Given the description of an element on the screen output the (x, y) to click on. 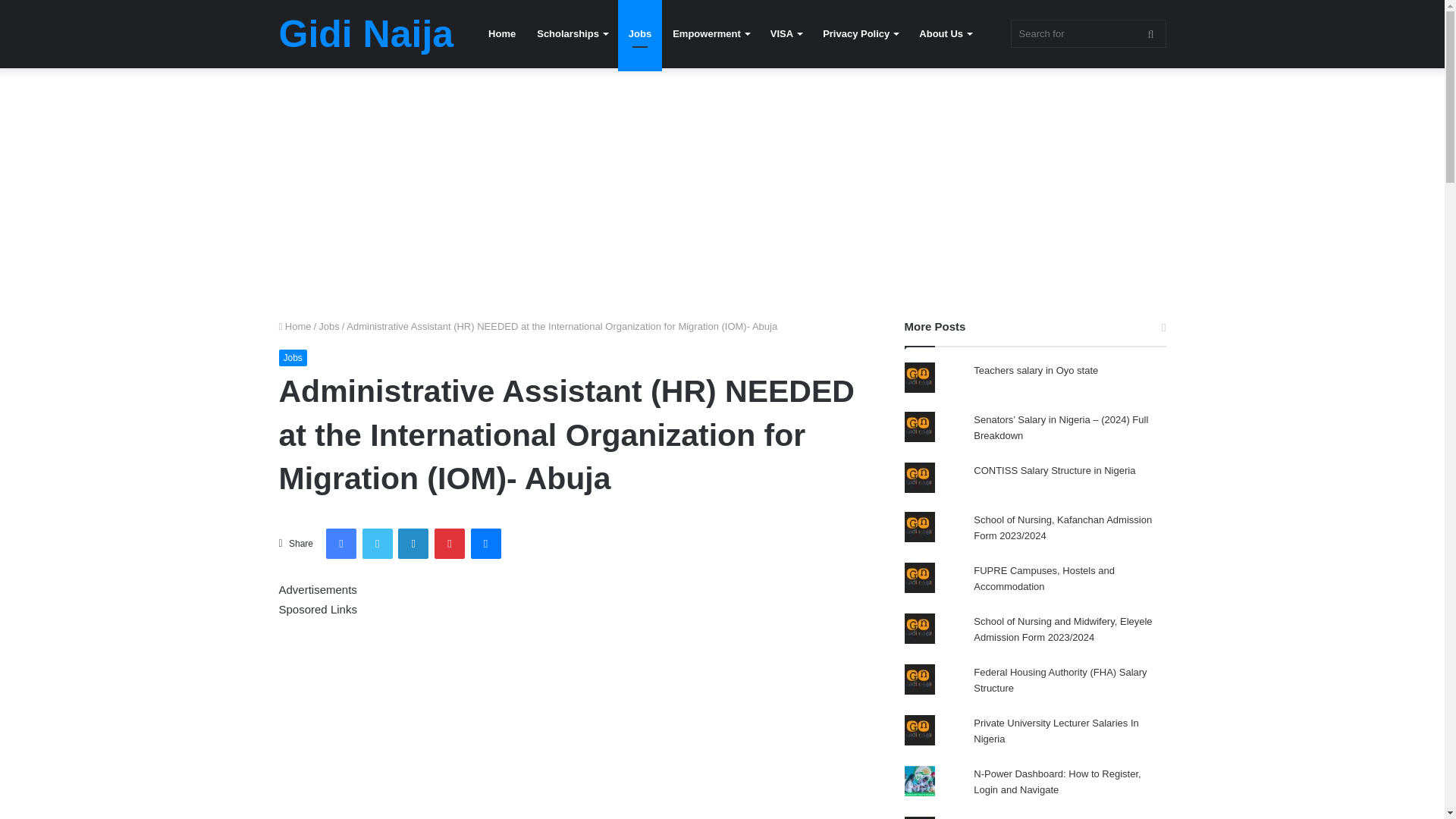
Privacy Policy (860, 33)
Facebook (341, 543)
Jobs (328, 326)
Gidi Naija (366, 34)
Facebook (341, 543)
Pinterest (448, 543)
LinkedIn (412, 543)
Twitter (377, 543)
Gidi Naija (366, 34)
Jobs (293, 357)
